Given the description of an element on the screen output the (x, y) to click on. 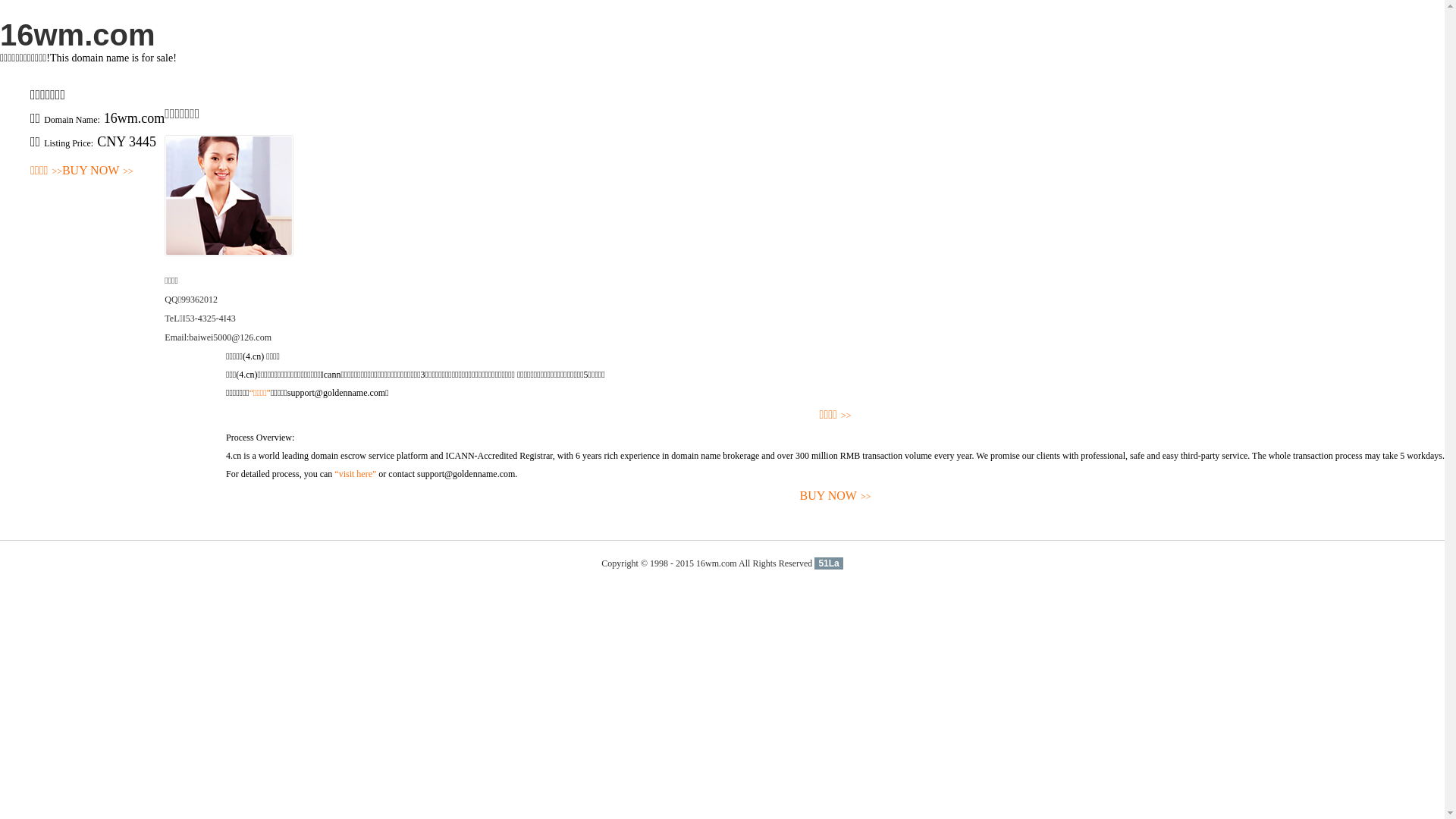
BUY NOW>> Element type: text (834, 496)
51La Element type: text (828, 563)
BUY NOW>> Element type: text (97, 170)
